Given the description of an element on the screen output the (x, y) to click on. 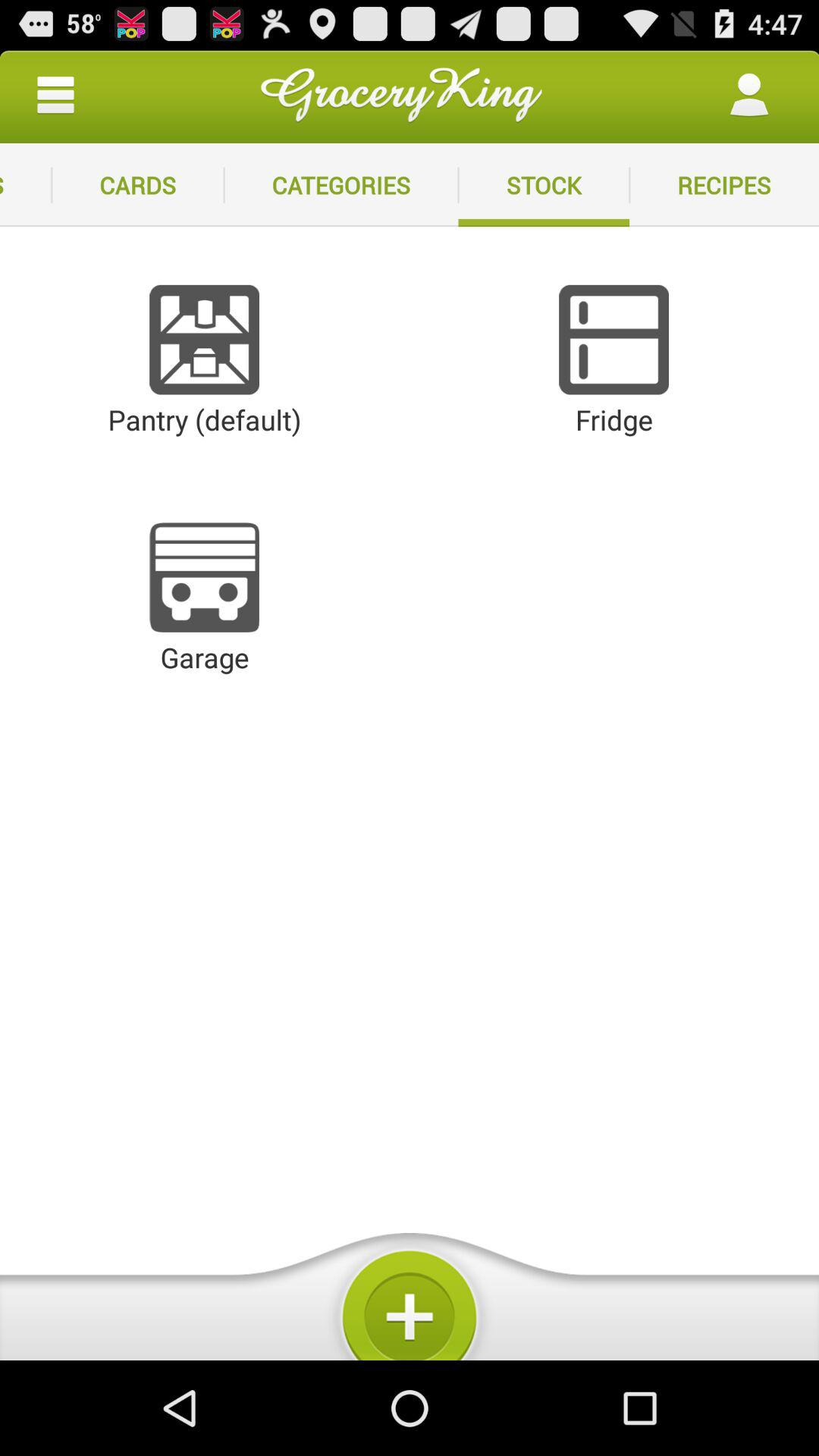
choose cards (137, 184)
